Given the description of an element on the screen output the (x, y) to click on. 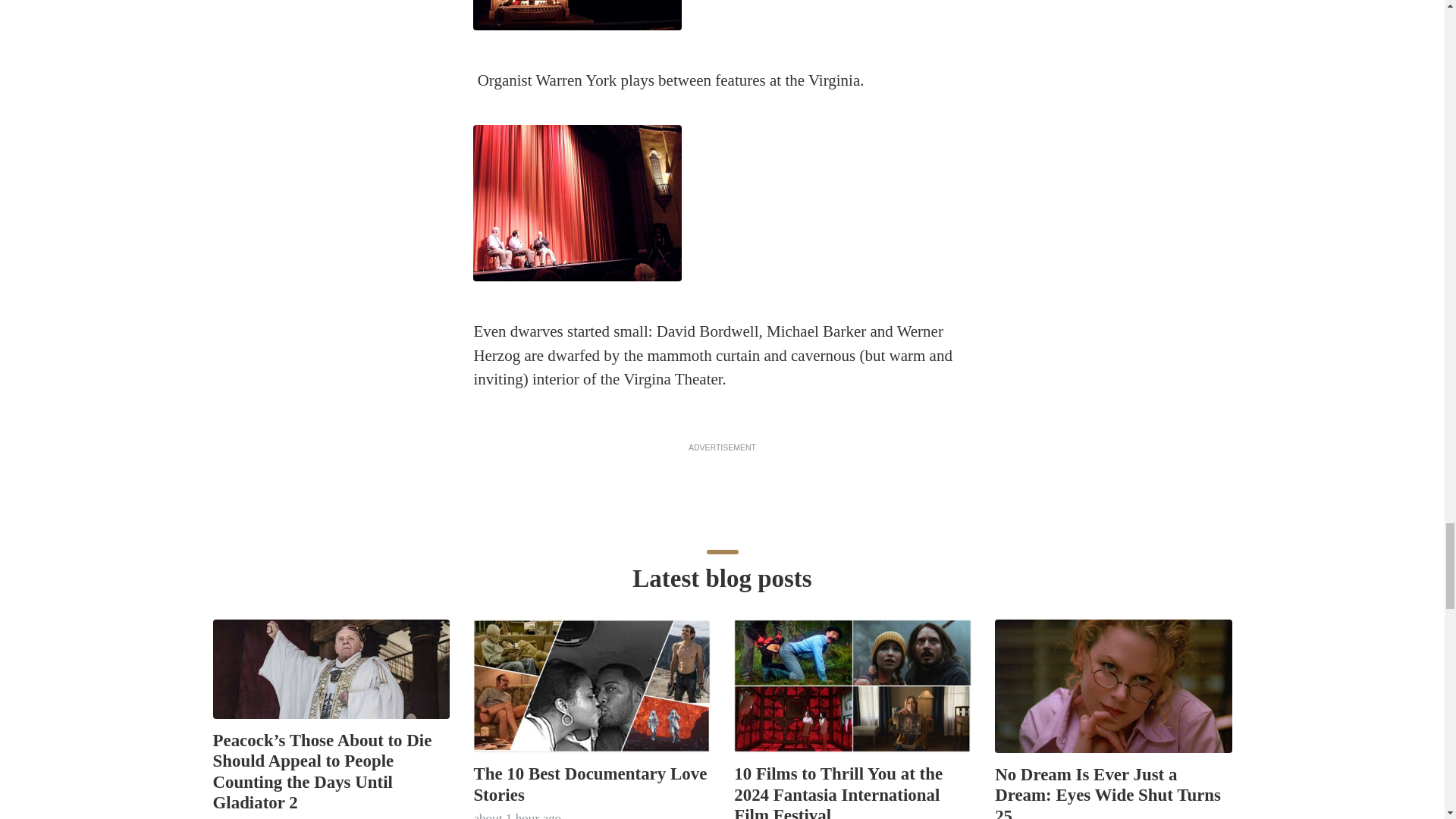
The 10 Best Documentary Love Stories (589, 783)
